Given the description of an element on the screen output the (x, y) to click on. 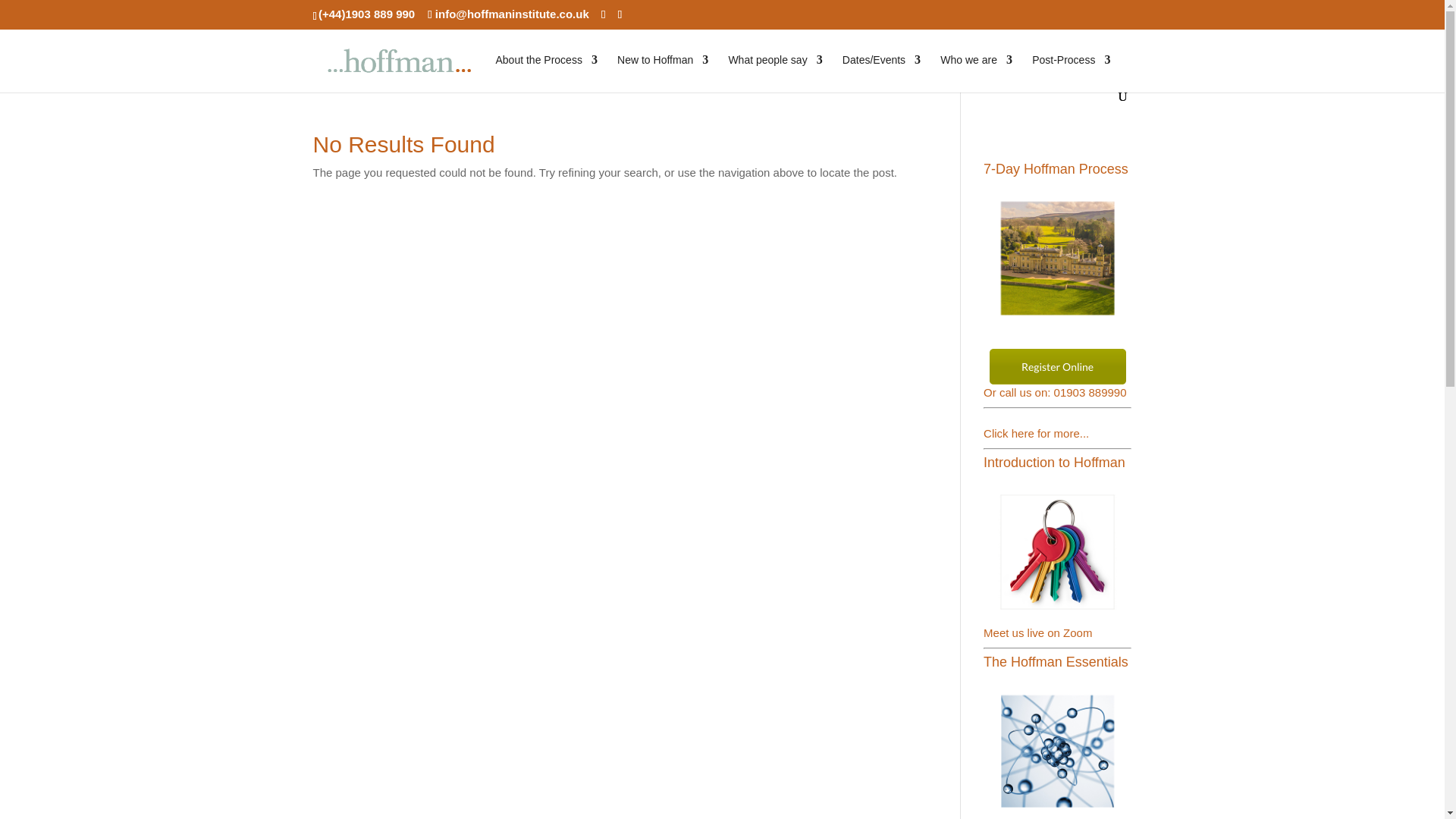
Who we are (975, 72)
What people say (775, 72)
New to Hoffman (662, 72)
About the Process (546, 72)
